Given the description of an element on the screen output the (x, y) to click on. 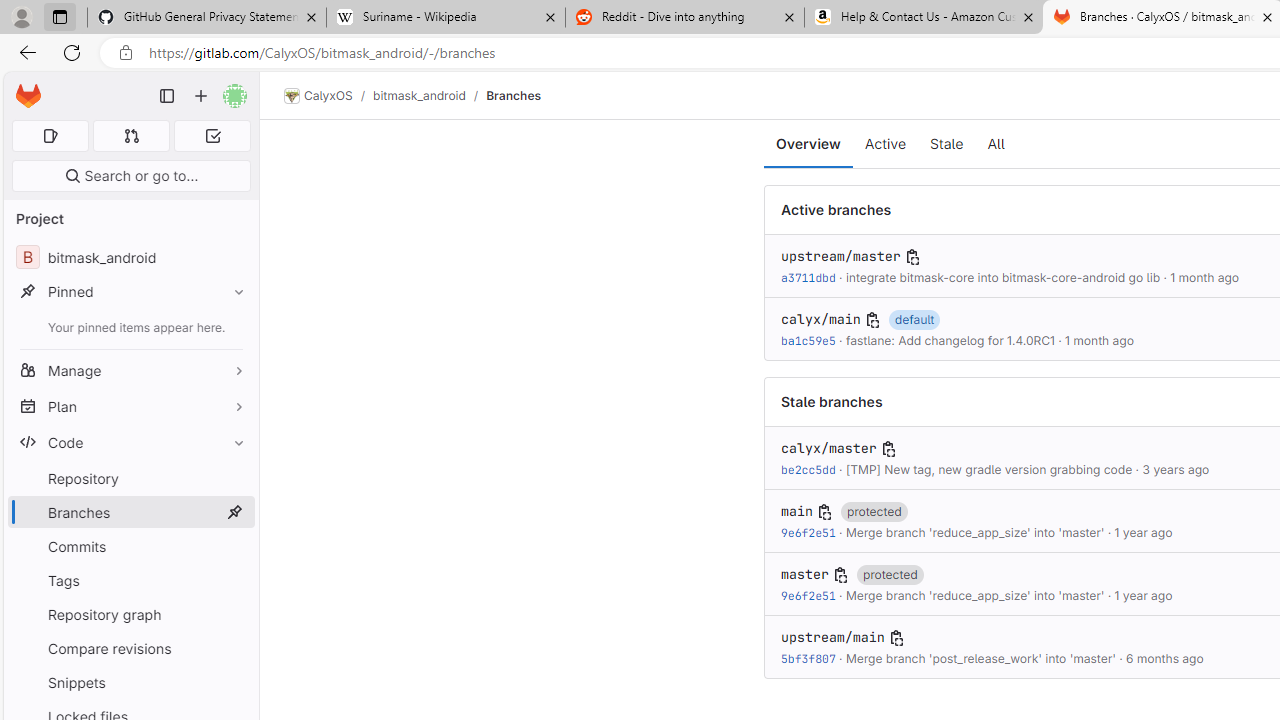
Refresh (72, 52)
Commits (130, 546)
Pin Commits (234, 546)
Homepage (27, 96)
Repository graph (130, 614)
Snippets (130, 682)
master (804, 574)
Primary navigation sidebar (167, 96)
All (996, 143)
Manage (130, 370)
calyx/main (820, 319)
9e6f2e51 (807, 595)
upstream/master (840, 256)
fastlane: Add changelog for 1.4.0RC1 (949, 339)
